Given the description of an element on the screen output the (x, y) to click on. 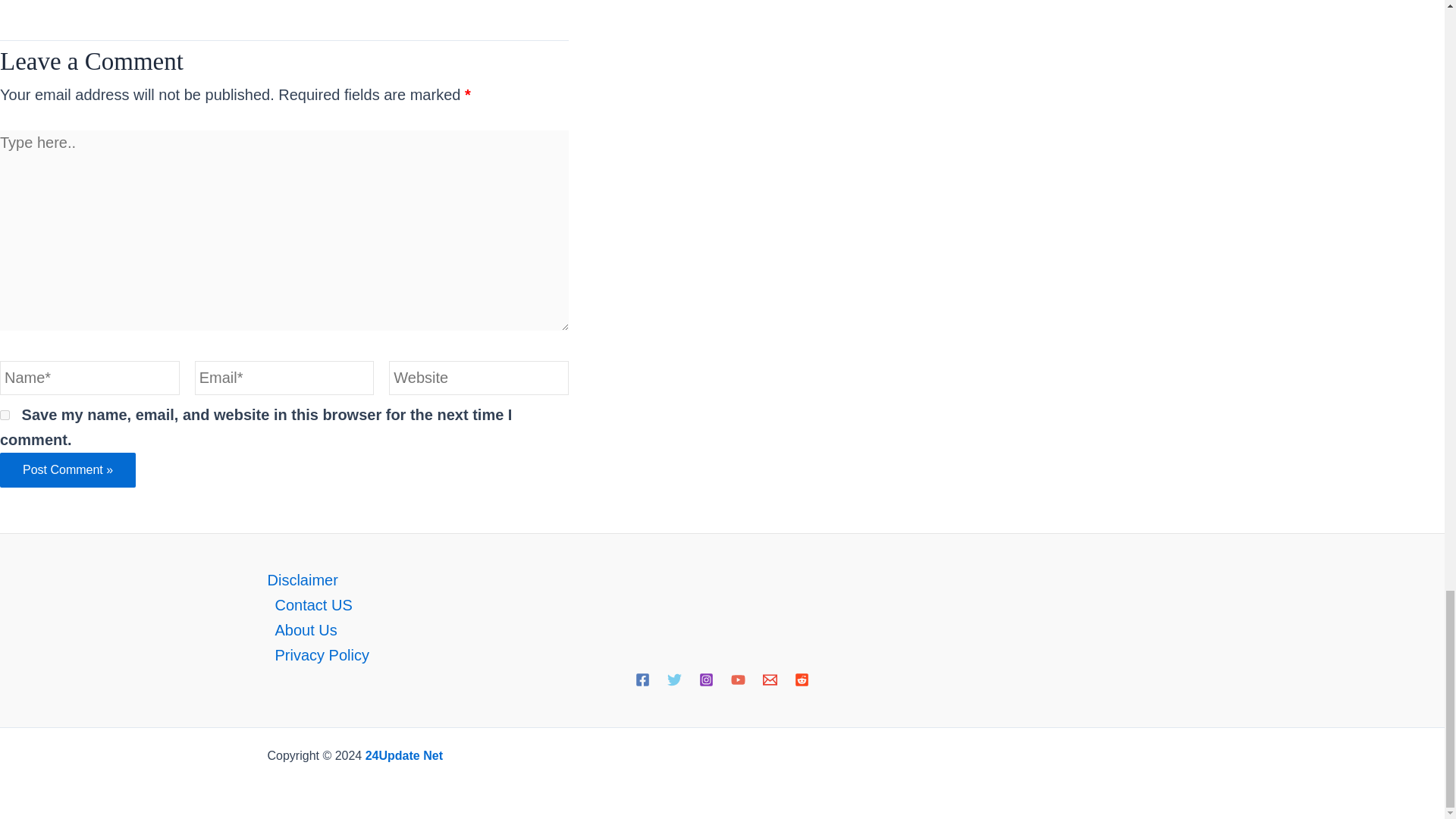
Contact US (721, 604)
Email (769, 679)
About Us (721, 630)
Disclaimer (721, 580)
yes (5, 415)
Privacy Policy (721, 654)
